Given the description of an element on the screen output the (x, y) to click on. 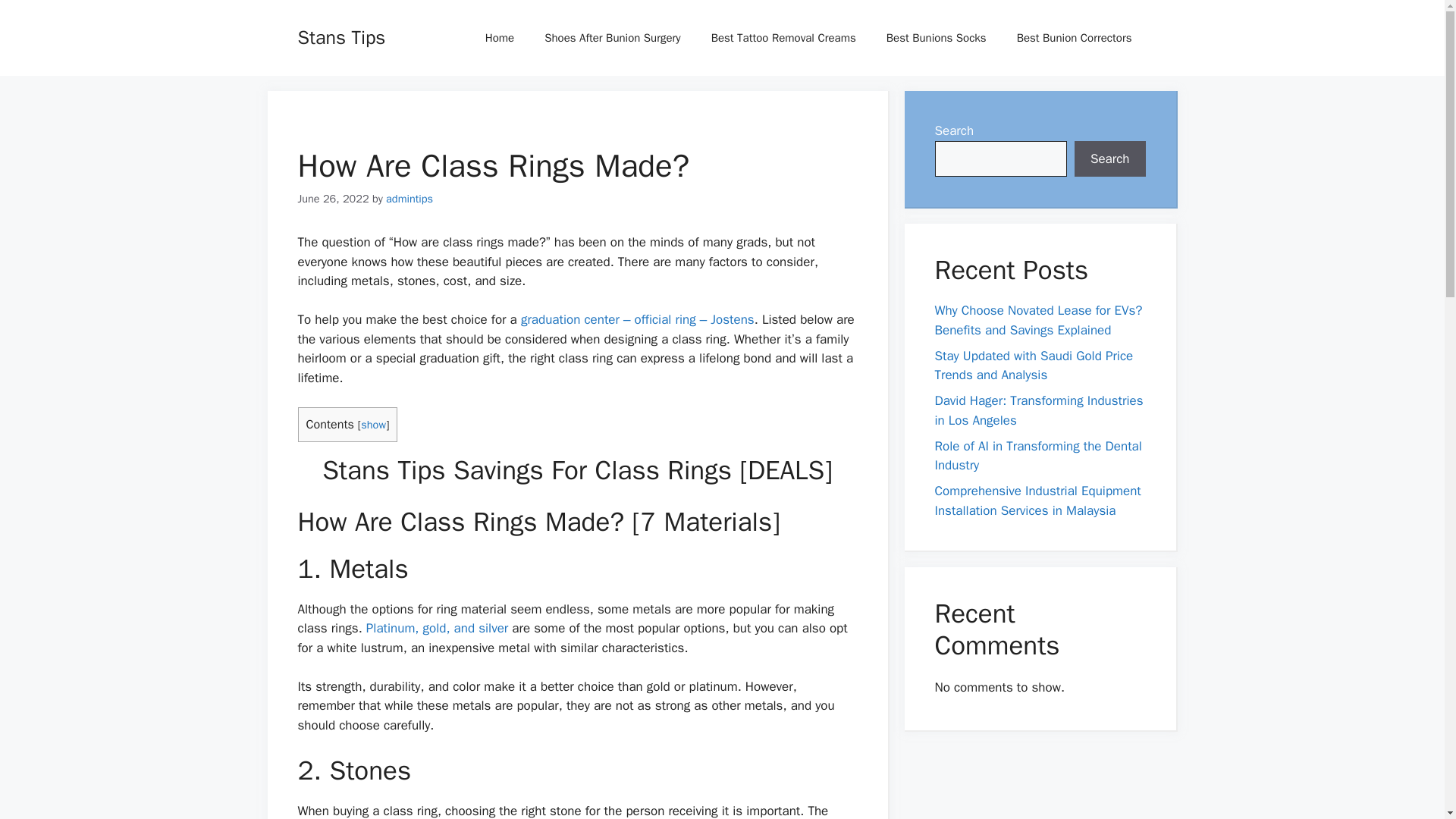
Best Bunions Socks (935, 37)
Shoes After Bunion Surgery (612, 37)
View all posts by admintips (408, 198)
Best Bunion Correctors (1074, 37)
Search (1109, 158)
David Hager: Transforming Industries in Los Angeles (1038, 410)
admintips (408, 198)
Platinum, gold, and silver (437, 627)
Home (499, 37)
Role of AI in Transforming the Dental Industry (1037, 456)
Best Tattoo Removal Creams (782, 37)
Stans Tips (341, 37)
Stay Updated with Saudi Gold Price Trends and Analysis (1033, 365)
